Given the description of an element on the screen output the (x, y) to click on. 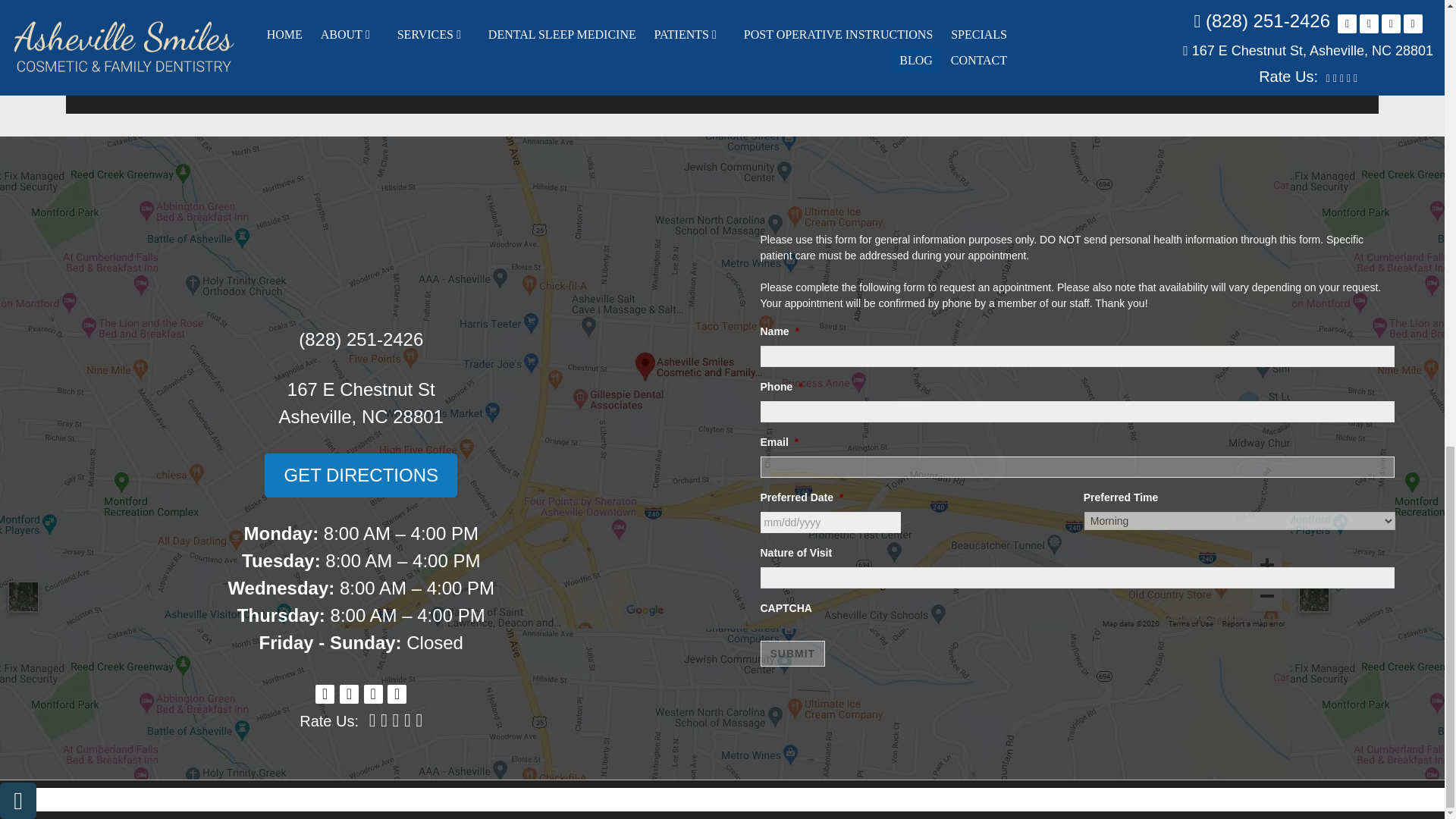
Submit (792, 653)
